Given the description of an element on the screen output the (x, y) to click on. 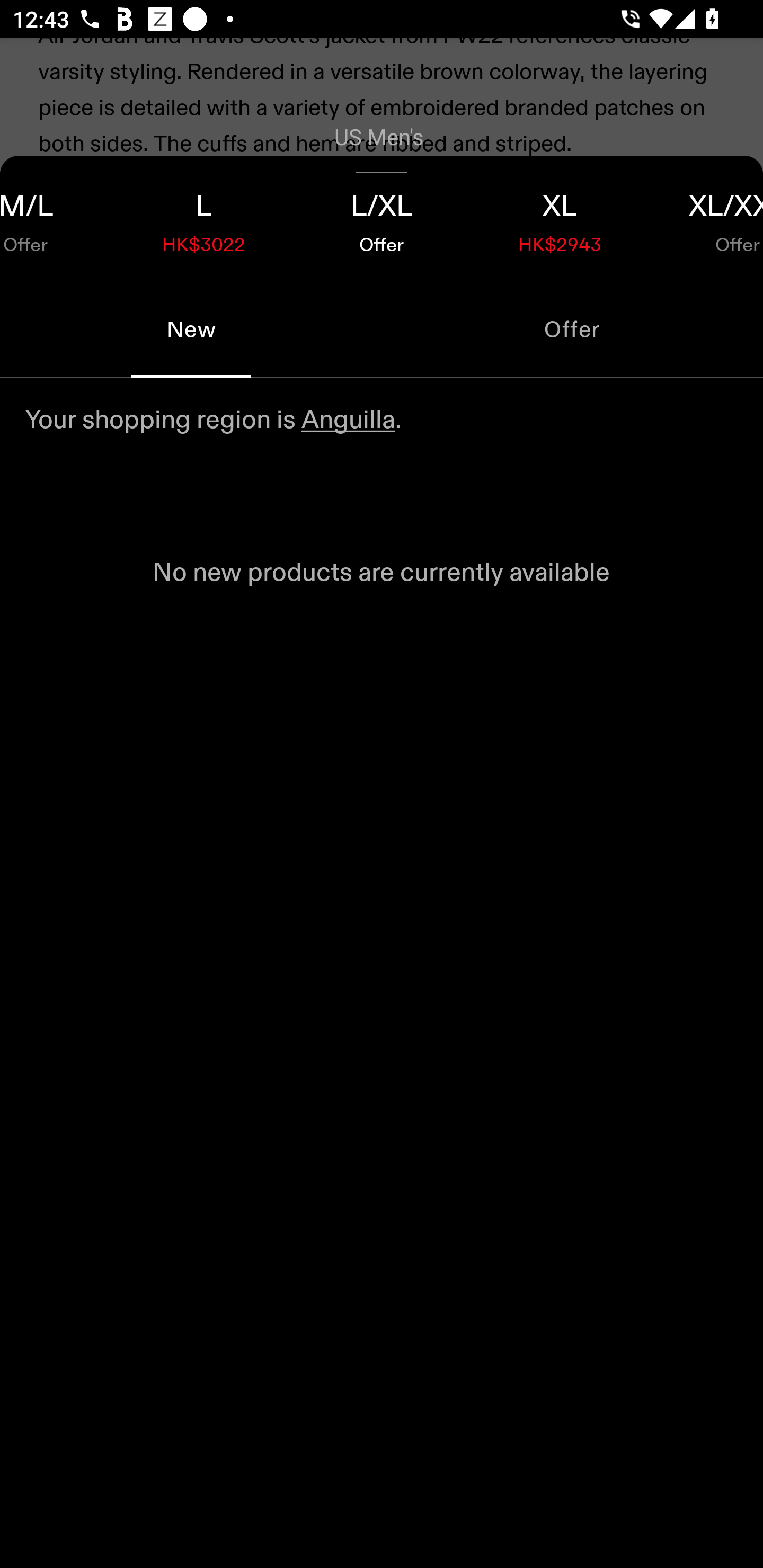
M/L Offer (57, 218)
L HK$3022 (203, 218)
L/XL Offer (381, 218)
XL HK$2943 (559, 218)
XL/XXL Offer (705, 218)
Offer (572, 329)
Sell (152, 361)
